Given the description of an element on the screen output the (x, y) to click on. 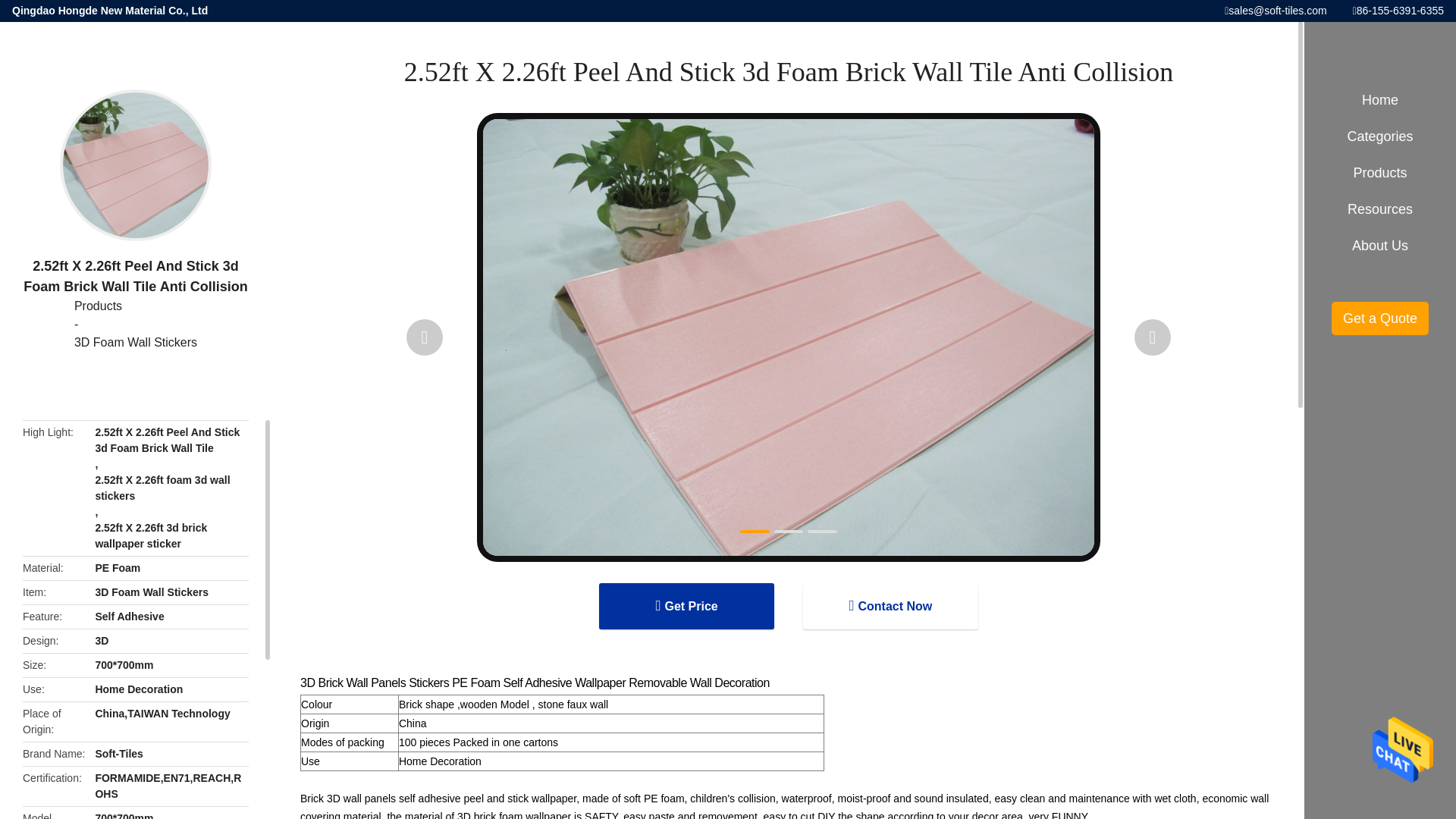
Home (1379, 99)
Get Price (685, 606)
Contact Now (889, 606)
Products (135, 306)
China 3D Foam Wall Stickers Manufacturers (135, 342)
3D Foam Wall Stickers (135, 342)
Products (135, 306)
Categories (1379, 135)
